Given the description of an element on the screen output the (x, y) to click on. 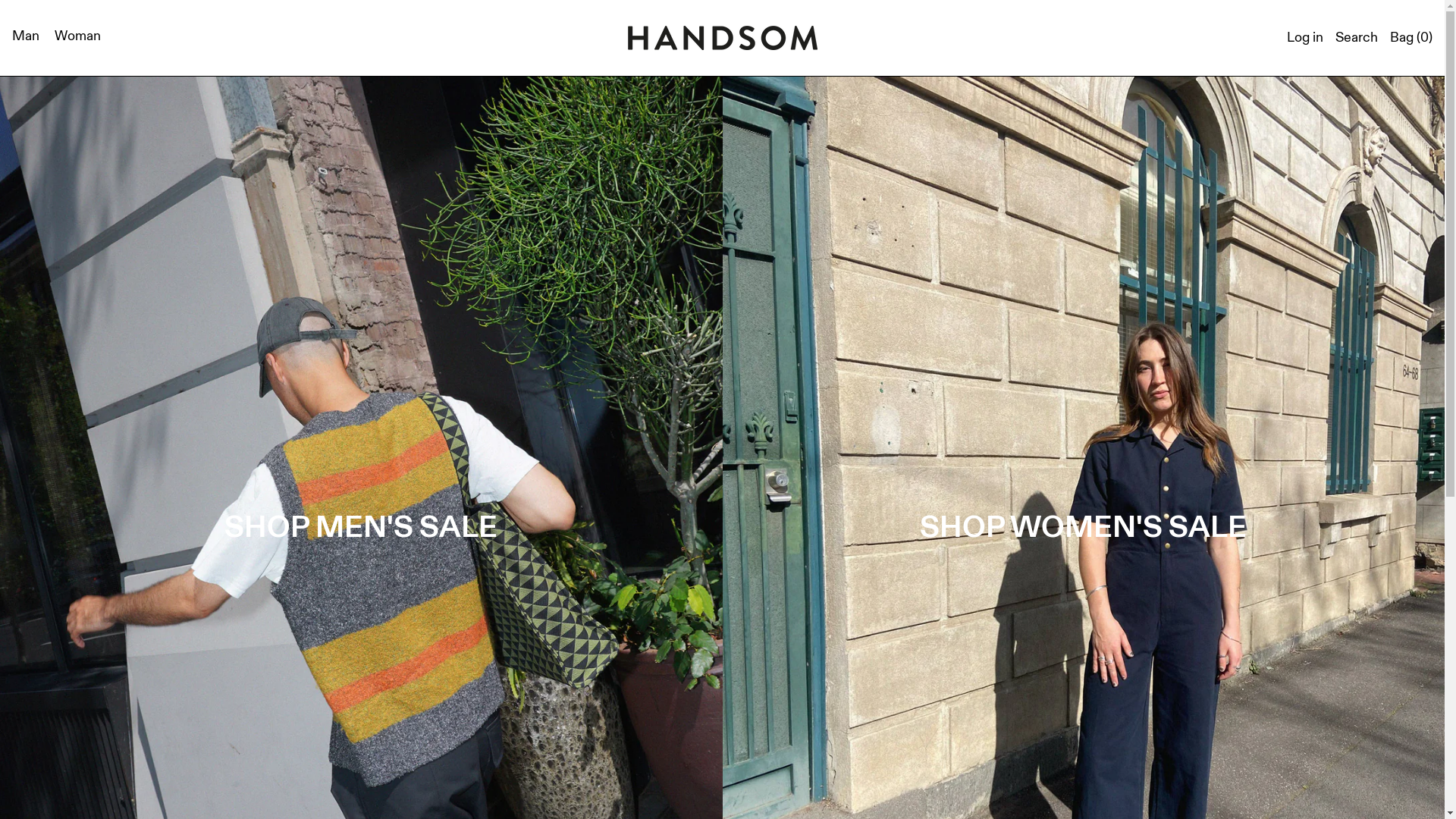
Man Element type: text (27, 37)
Bag (0) Element type: text (1411, 37)
Woman Element type: text (78, 37)
Search Element type: text (1356, 37)
Log in Element type: text (1304, 37)
